Given the description of an element on the screen output the (x, y) to click on. 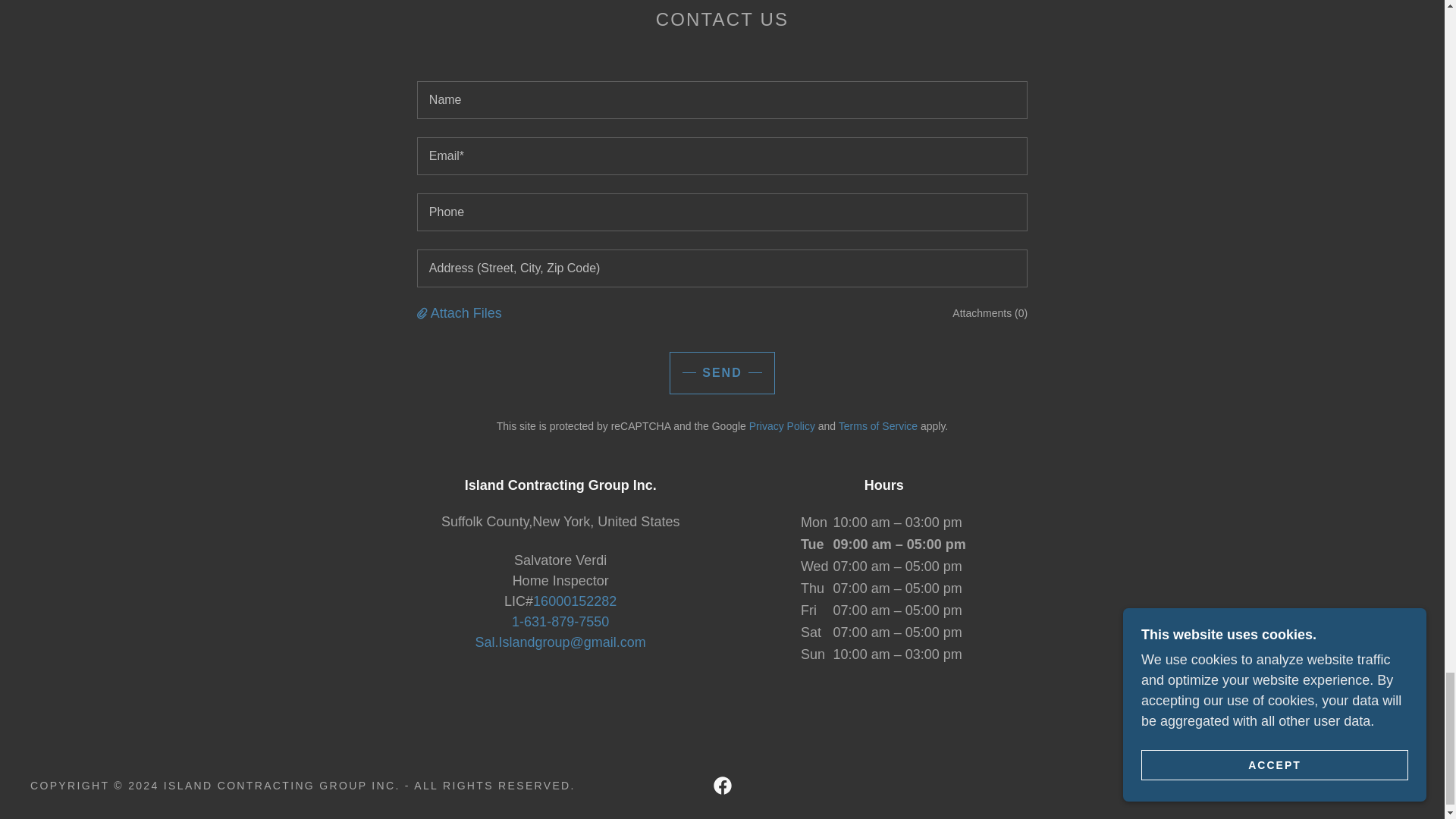
16000152282 (573, 601)
GODADDY (1380, 785)
SEND (721, 372)
1-631-879-7550 (560, 621)
Terms of Service (877, 426)
Privacy Policy (782, 426)
